Given the description of an element on the screen output the (x, y) to click on. 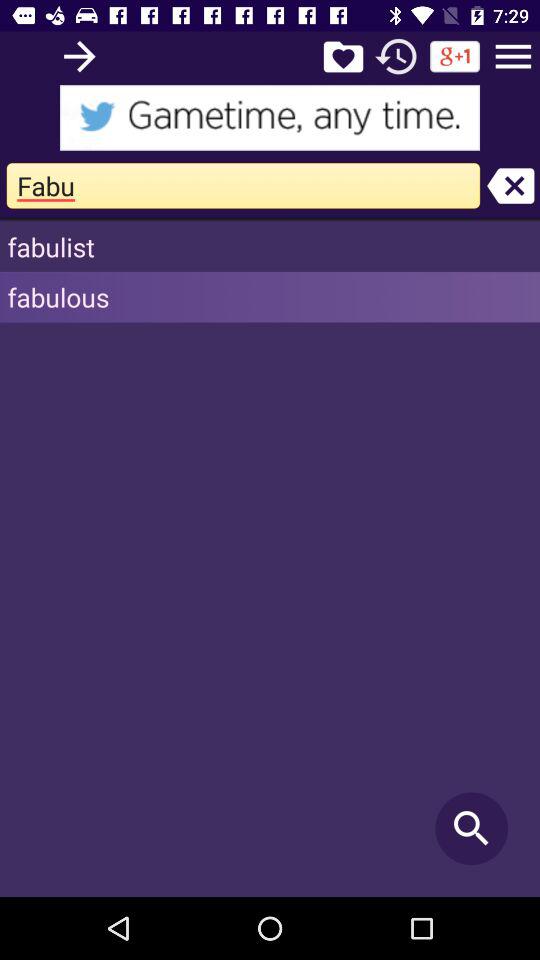
select menubutton (513, 56)
